Given the description of an element on the screen output the (x, y) to click on. 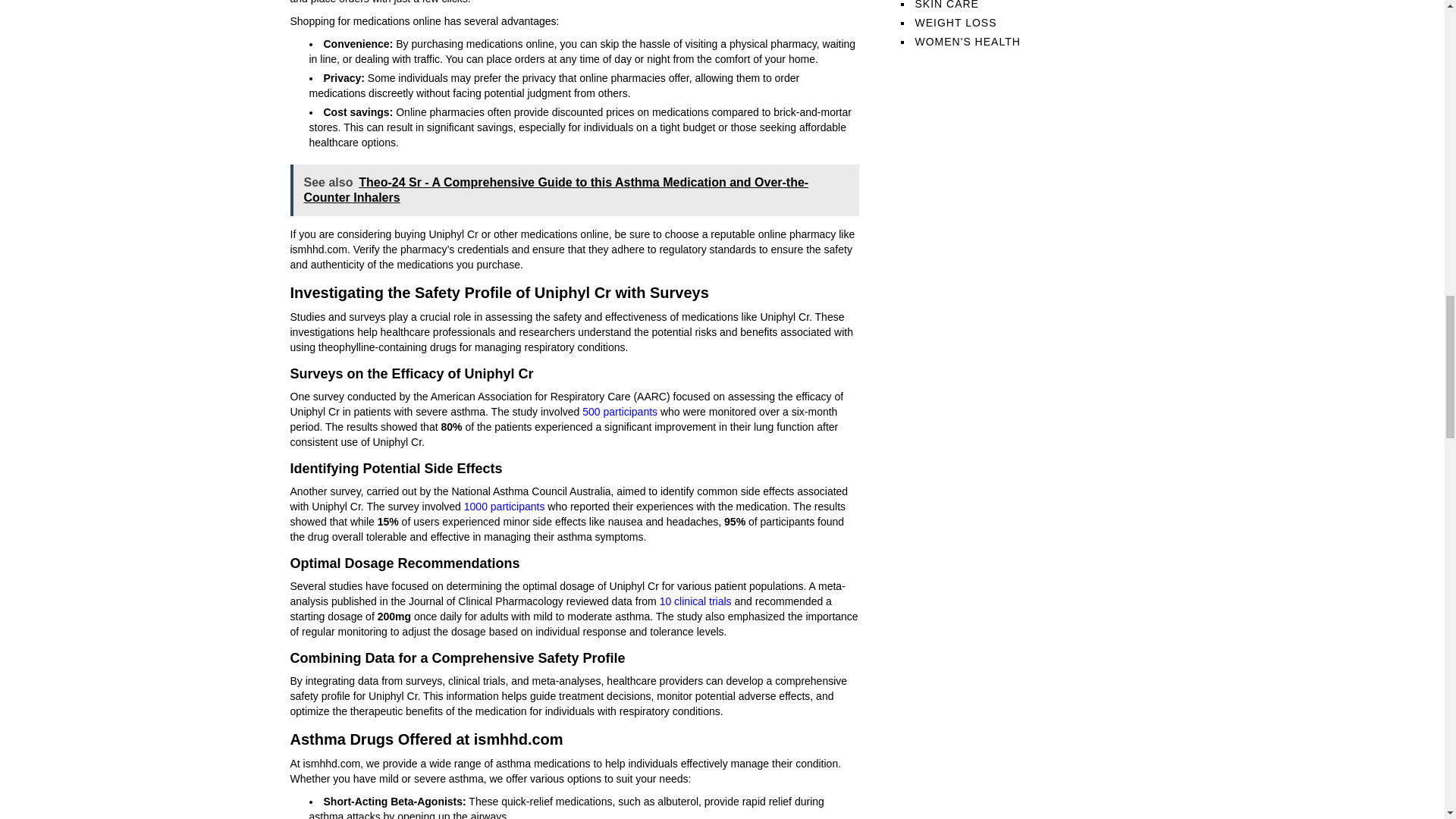
500 participants (620, 411)
1000 participants (504, 506)
10 clinical trials (695, 601)
